Given the description of an element on the screen output the (x, y) to click on. 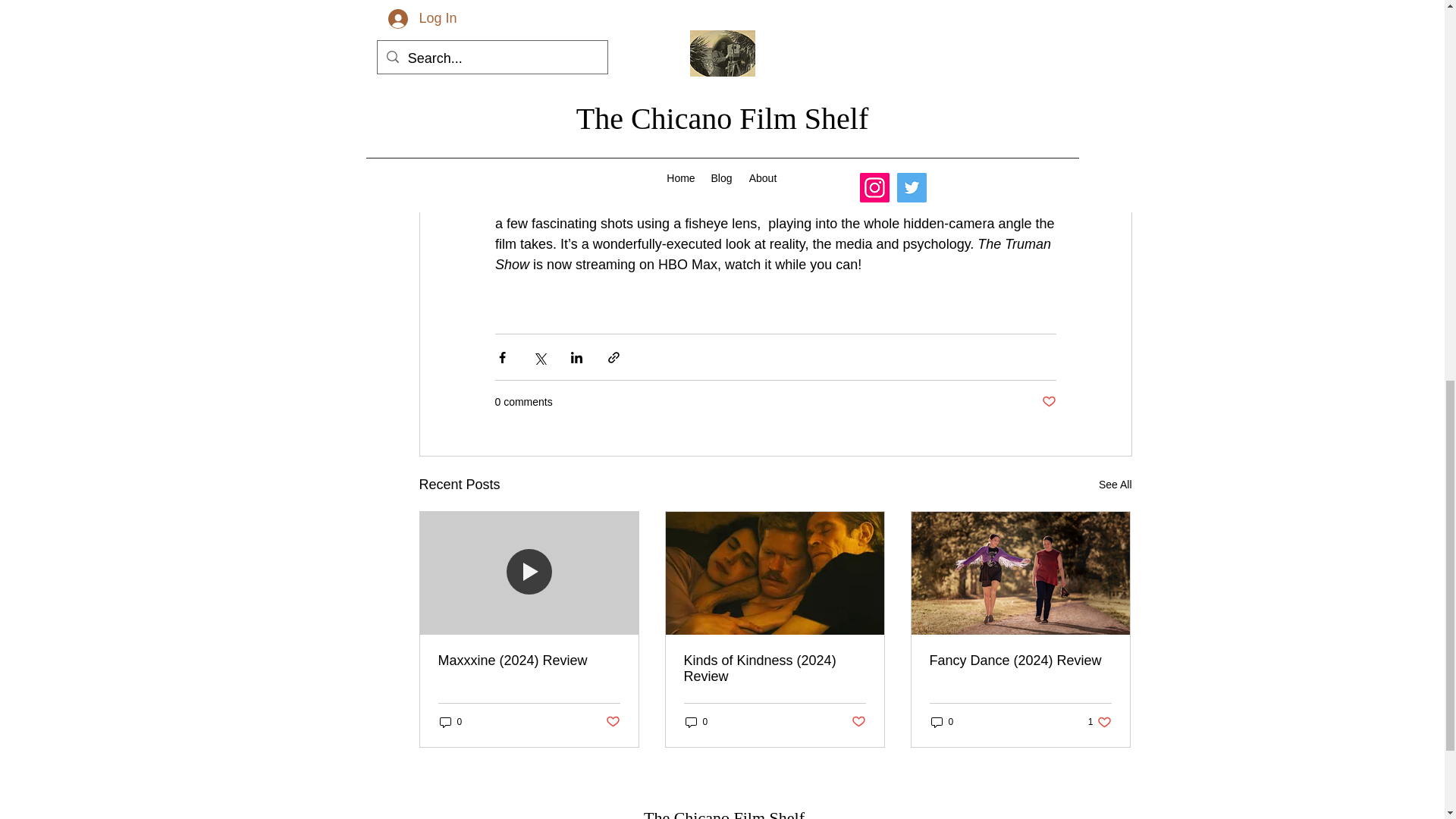
0 (1099, 721)
Post not marked as liked (451, 721)
0 (612, 722)
0 (697, 721)
Post not marked as liked (942, 721)
Post not marked as liked (1049, 401)
See All (857, 722)
